Given the description of an element on the screen output the (x, y) to click on. 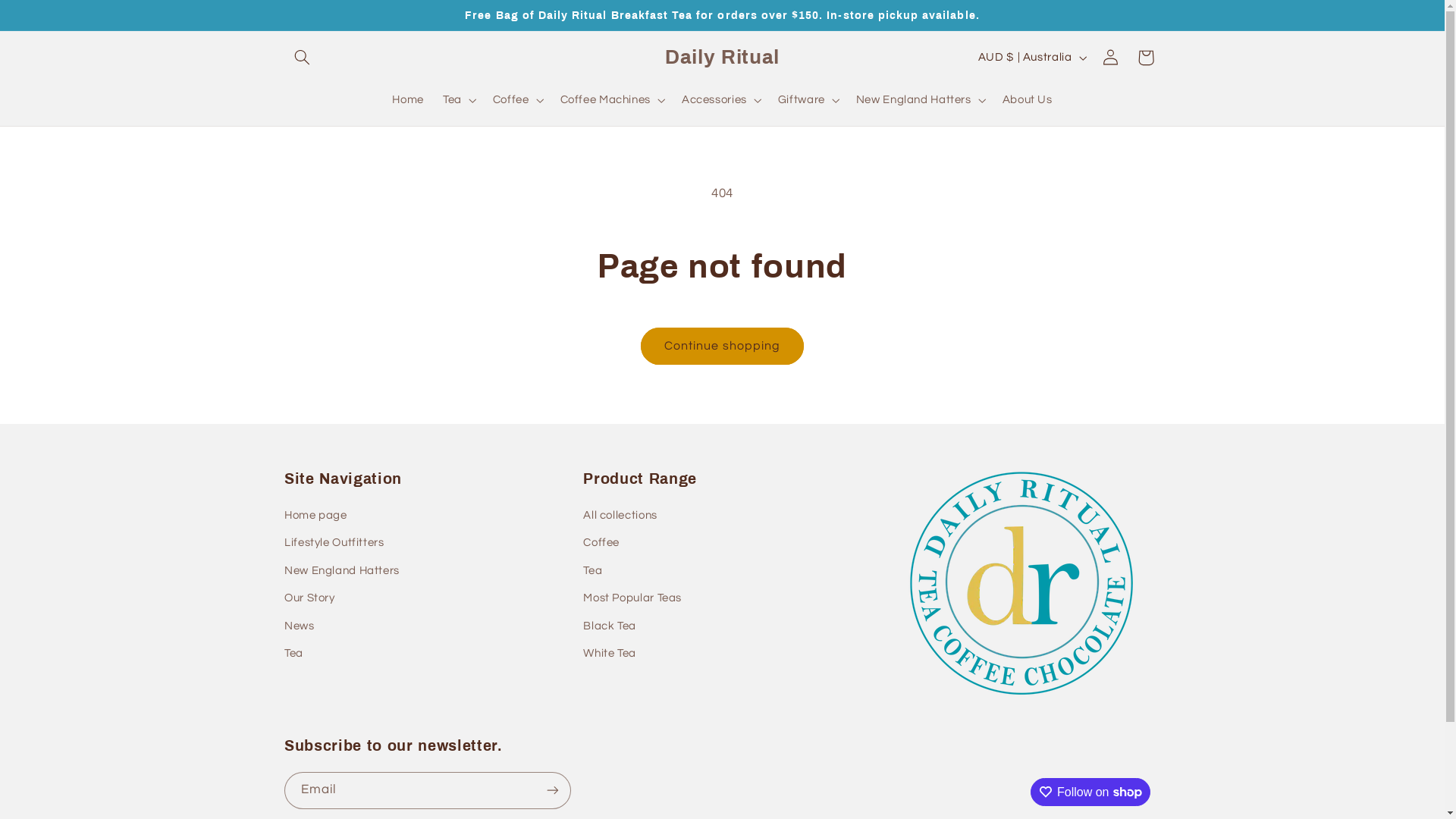
AUD $ | Australia Element type: text (1030, 57)
Log in Element type: text (1110, 57)
News Element type: text (299, 625)
Continue shopping Element type: text (722, 345)
Home Element type: text (407, 99)
Cart Element type: text (1145, 57)
Lifestyle Outfitters Element type: text (334, 542)
White Tea Element type: text (609, 653)
Our Story Element type: text (309, 597)
Black Tea Element type: text (609, 625)
About Us Element type: text (1026, 99)
Tea Element type: text (592, 570)
Most Popular Teas Element type: text (632, 597)
Tea Element type: text (293, 653)
Daily Ritual Element type: text (721, 57)
All collections Element type: text (619, 517)
Coffee Element type: text (601, 542)
Home page Element type: text (315, 517)
New England Hatters Element type: text (341, 570)
